Given the description of an element on the screen output the (x, y) to click on. 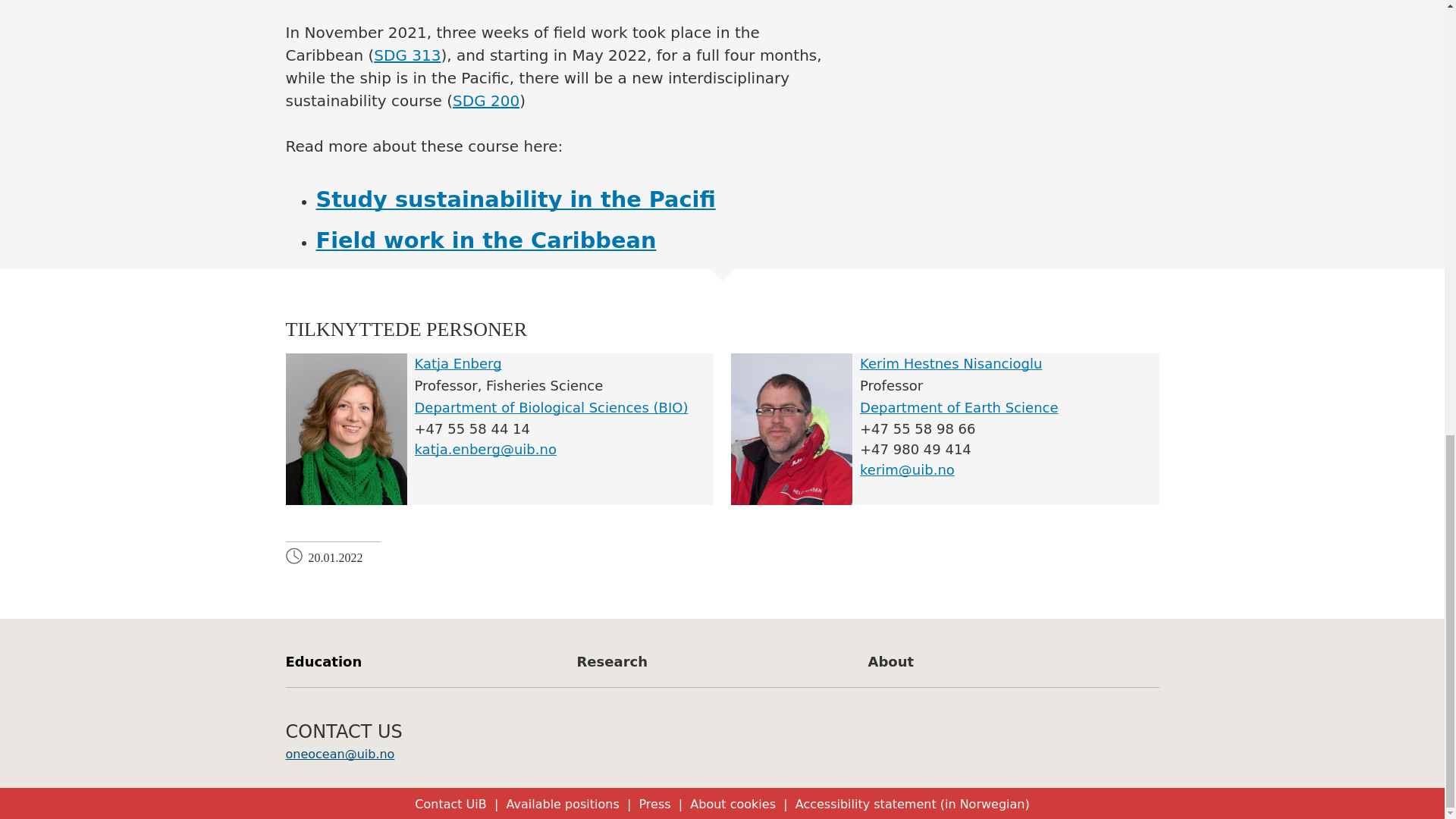
Study sustainability in the Pacifi (514, 199)
SDG 313 (407, 54)
Katja Enberg (456, 363)
SDG 200 (485, 100)
Field work in the Caribbean (485, 240)
